Given the description of an element on the screen output the (x, y) to click on. 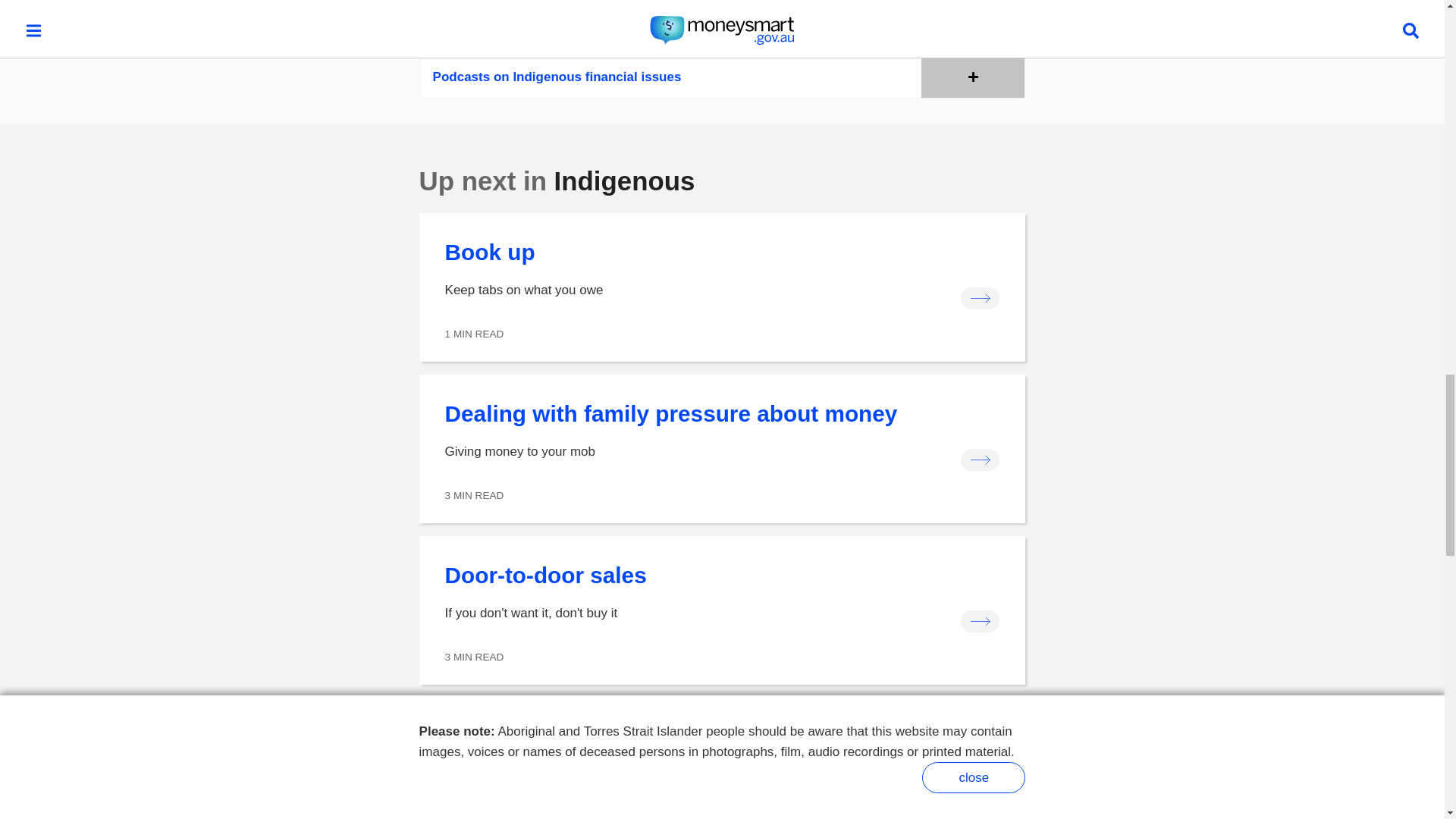
Go to Door-to-door sales (722, 610)
Go to Book up (722, 286)
Go to Dealing with family pressure about money (722, 448)
